Given the description of an element on the screen output the (x, y) to click on. 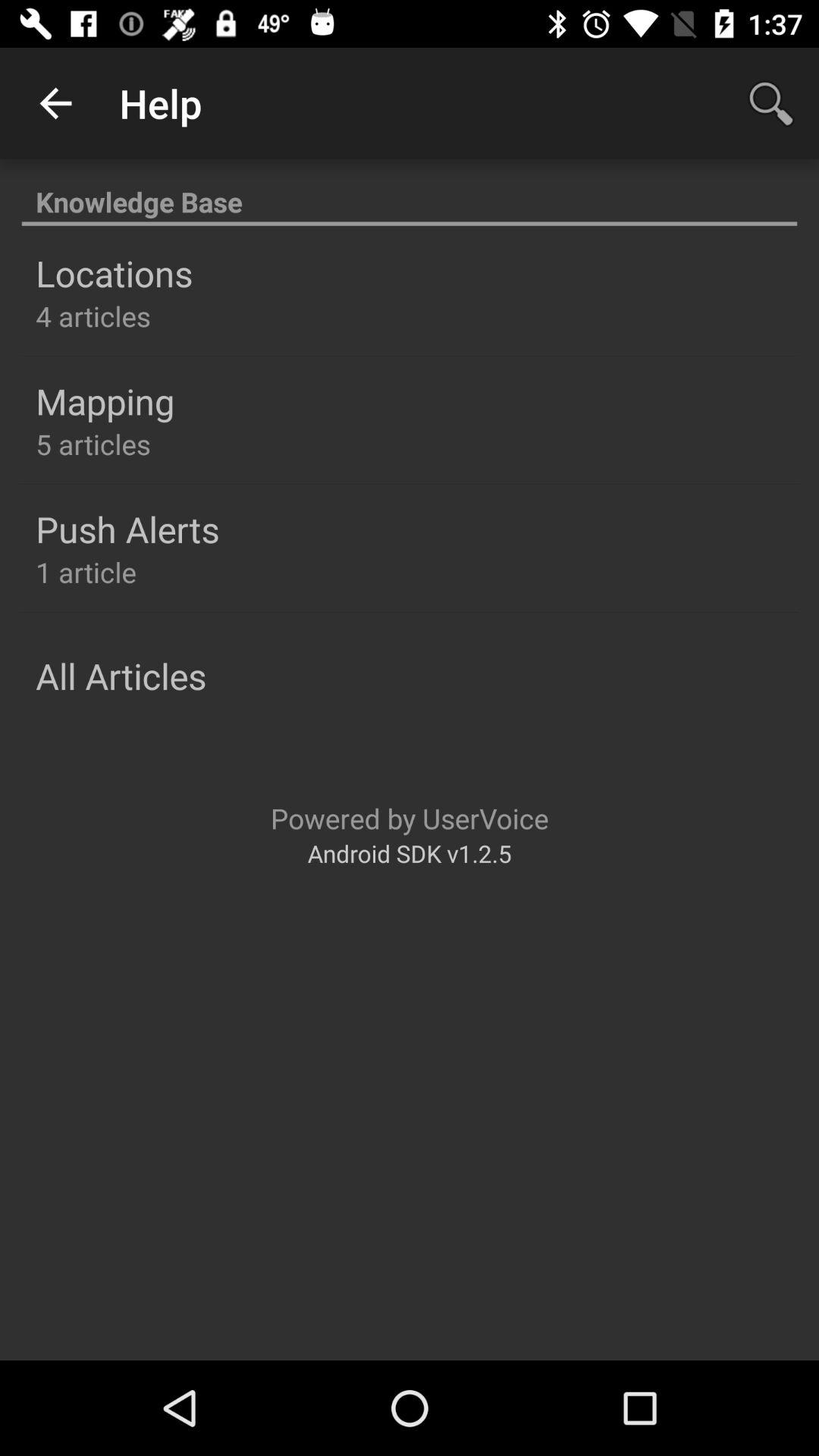
open item below the mapping icon (92, 443)
